Given the description of an element on the screen output the (x, y) to click on. 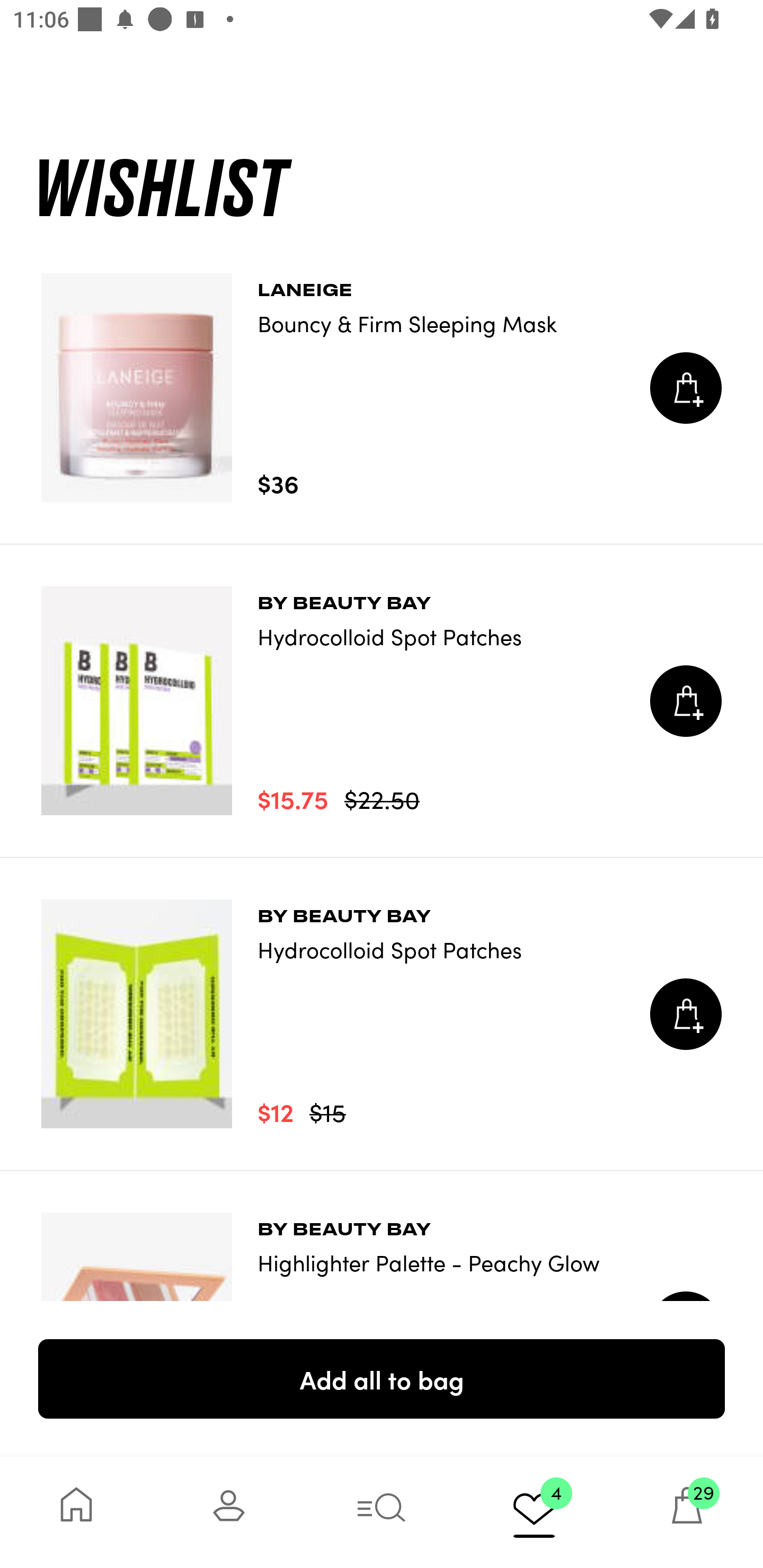
LANEIGE Bouncy & Firm Sleeping Mask $36 (381, 388)
BY BEAUTY BAY Hydrocolloid Spot Patches $12 $15 (381, 1013)
Add all to bag (381, 1379)
4 (533, 1512)
29 (686, 1512)
